Given the description of an element on the screen output the (x, y) to click on. 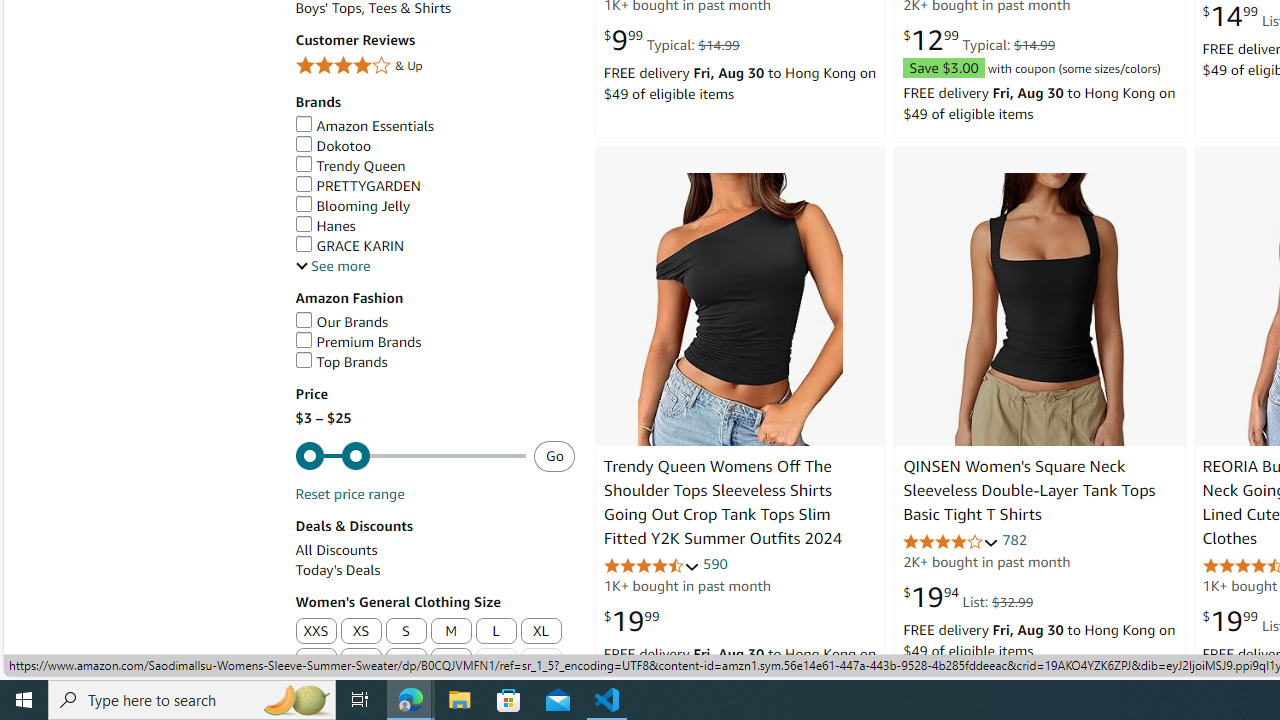
Trendy Queen (434, 165)
XXS (316, 632)
Maximum (410, 456)
4XL (406, 662)
Go - Submit price range (554, 455)
$19.94 List: $32.99 (968, 596)
3XL (362, 662)
Hanes (434, 226)
PRETTYGARDEN (357, 185)
S (406, 631)
782 (1014, 539)
XXS (315, 631)
XL (540, 632)
4.2 out of 5 stars (950, 541)
